Given the description of an element on the screen output the (x, y) to click on. 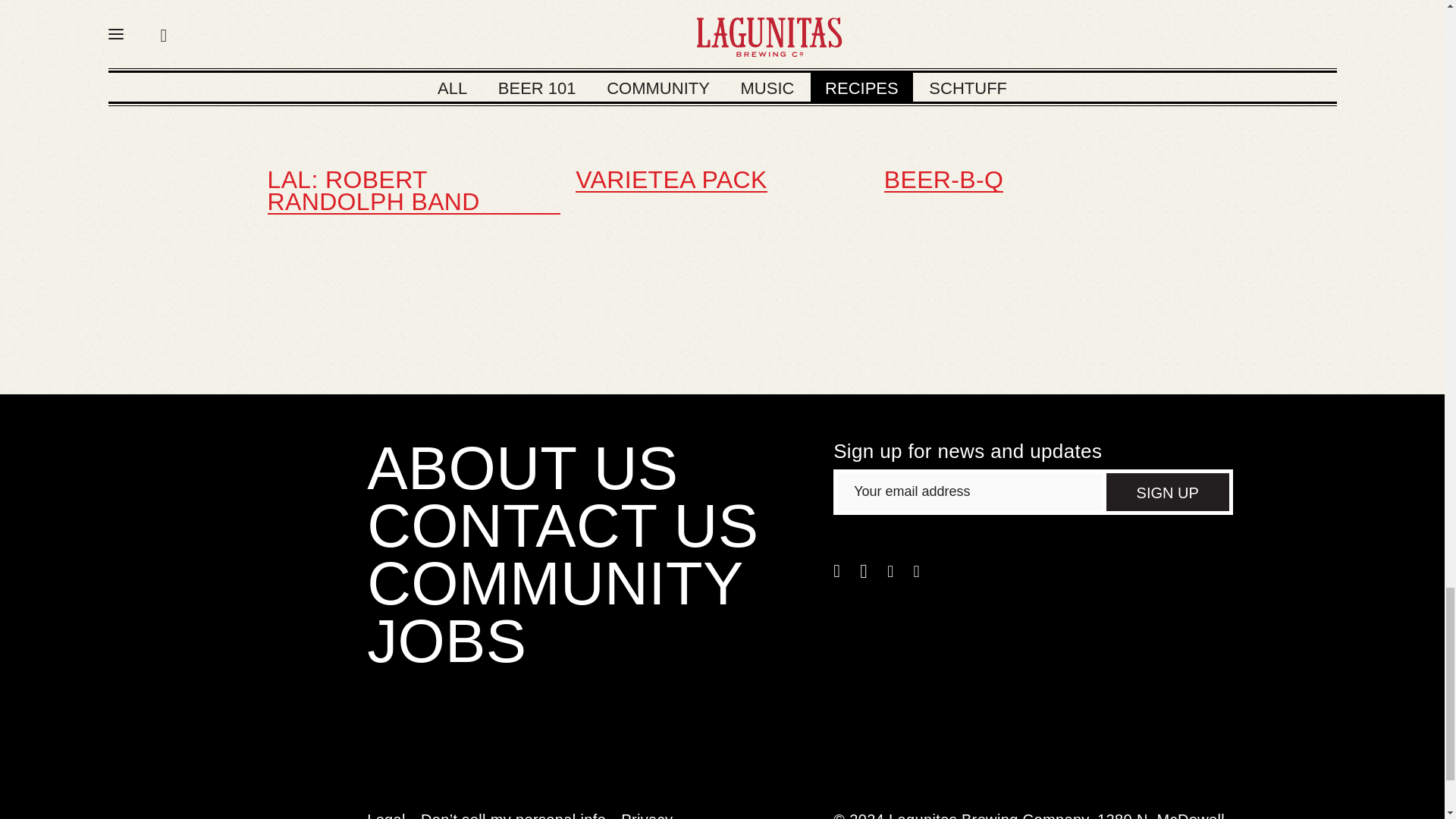
VARIETEA PACK (671, 180)
sign up (1167, 492)
LAL: ROBERT RANDOLPH BAND (413, 191)
